Given the description of an element on the screen output the (x, y) to click on. 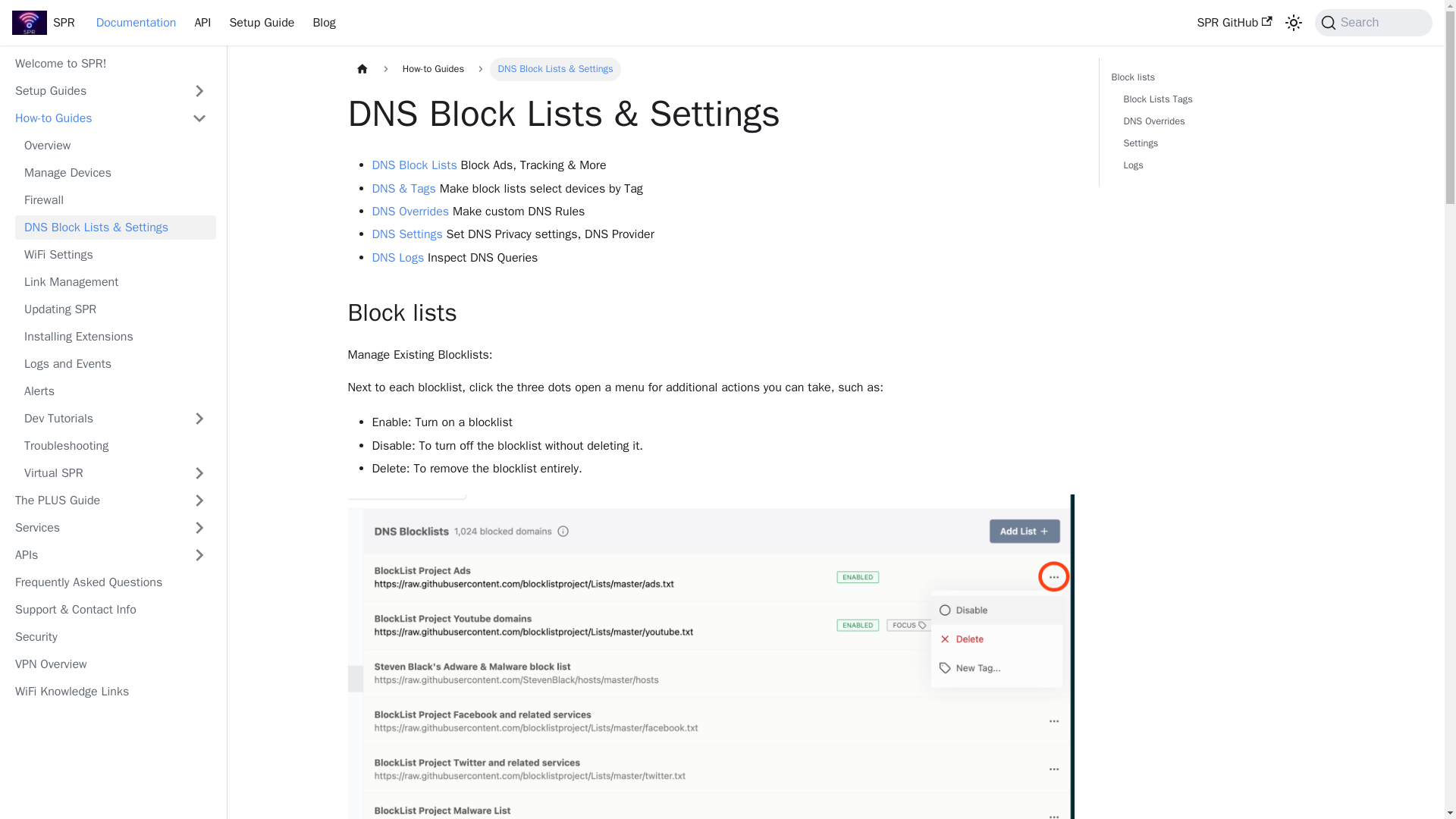
API (201, 22)
How-to Guides (110, 118)
SPR (43, 22)
Search (1373, 22)
Documentation (136, 22)
WiFi Settings (114, 254)
APIs (110, 554)
Alerts (114, 391)
Updating SPR (114, 309)
Link Management (114, 282)
DNS Block Lists (414, 165)
Frequently Asked Questions (110, 582)
Setup Guides (110, 90)
Dev Tutorials (114, 418)
Welcome to SPR! (110, 63)
